Given the description of an element on the screen output the (x, y) to click on. 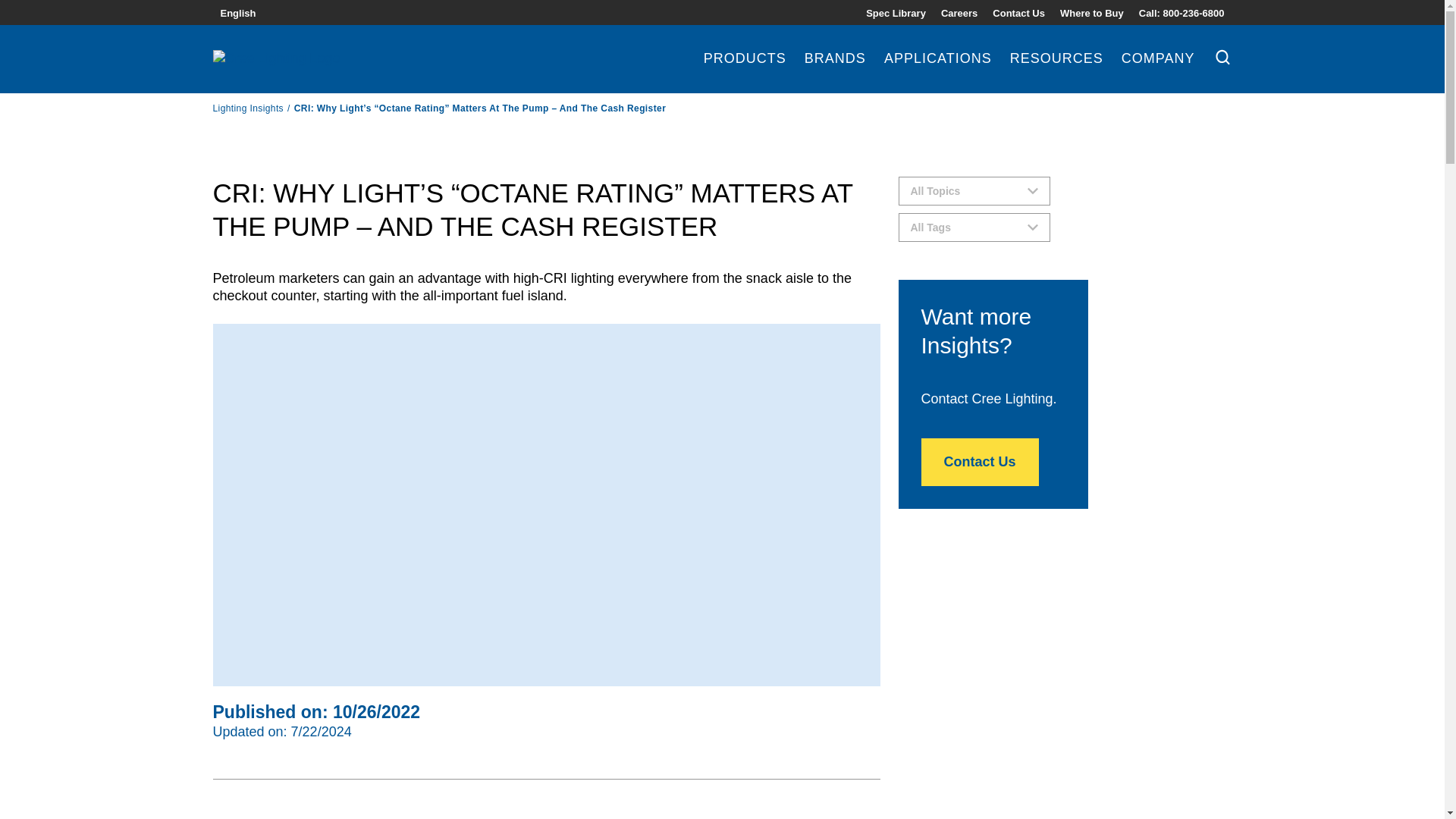
Top Navigation (1045, 12)
PRODUCTS (744, 72)
Careers (958, 12)
Contact Us (1018, 12)
Spec Library (896, 12)
Where to Buy (1091, 12)
English (237, 12)
Call: 800-236-6800 (1181, 12)
